Given the description of an element on the screen output the (x, y) to click on. 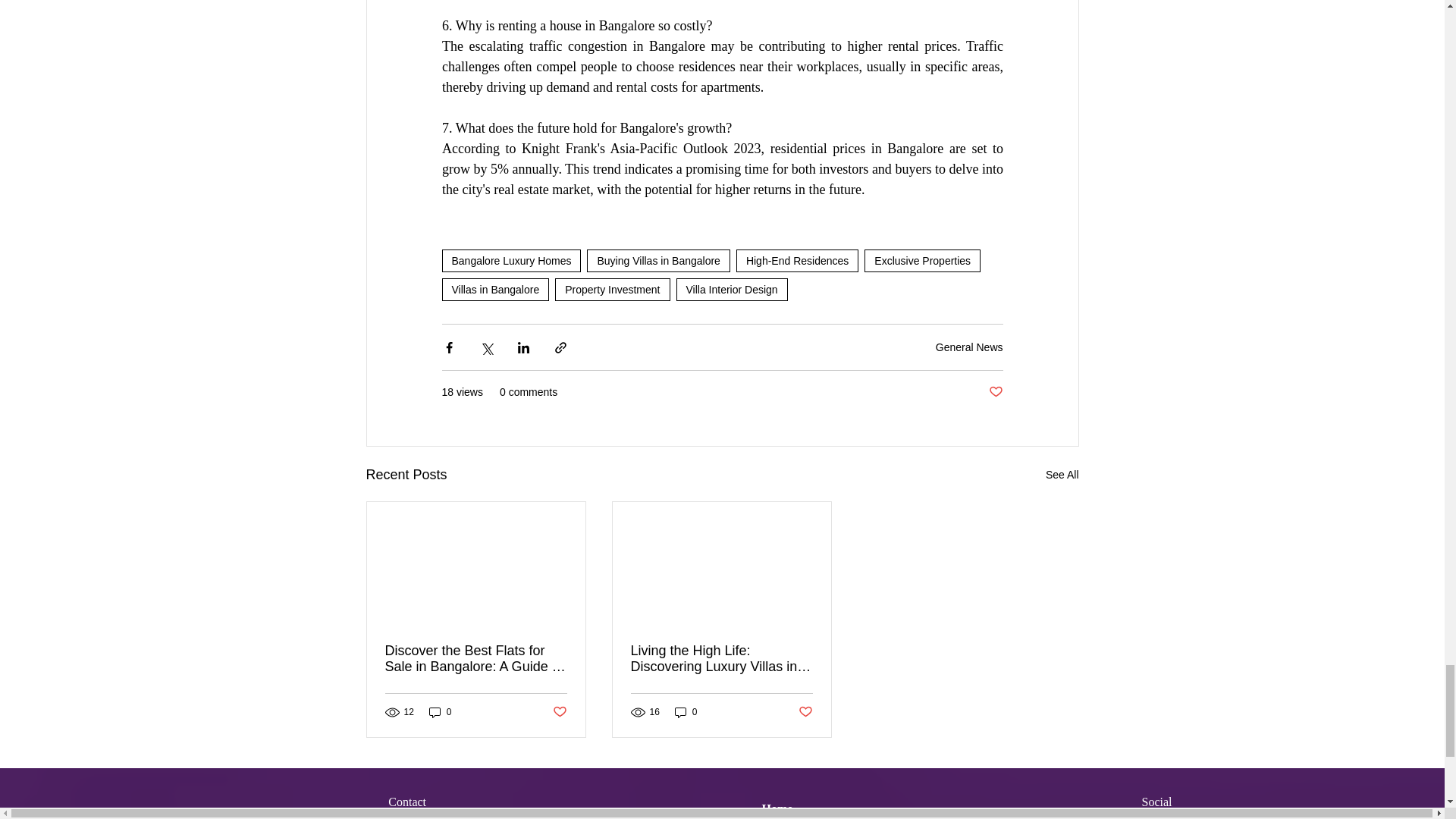
Buying Villas in Bangalore (657, 260)
Villas in Bangalore (494, 289)
Exclusive Properties (921, 260)
Property Investment (611, 289)
Bangalore Luxury Homes (510, 260)
High-End Residences (797, 260)
Villa Interior Design (732, 289)
